Given the description of an element on the screen output the (x, y) to click on. 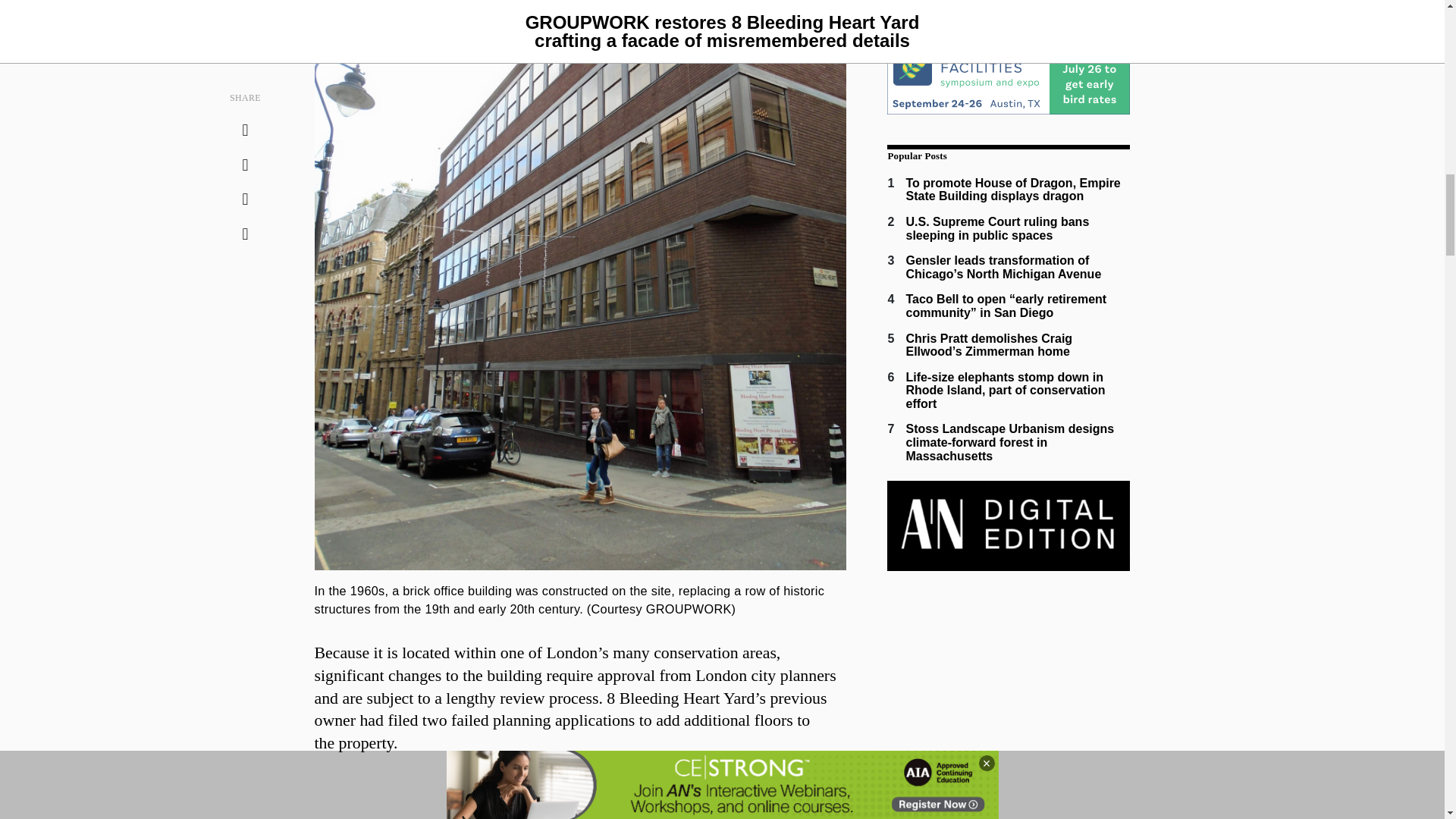
6,127 visitors in the last month (997, 228)
32,702 visitors in the last month (1012, 189)
